Given the description of an element on the screen output the (x, y) to click on. 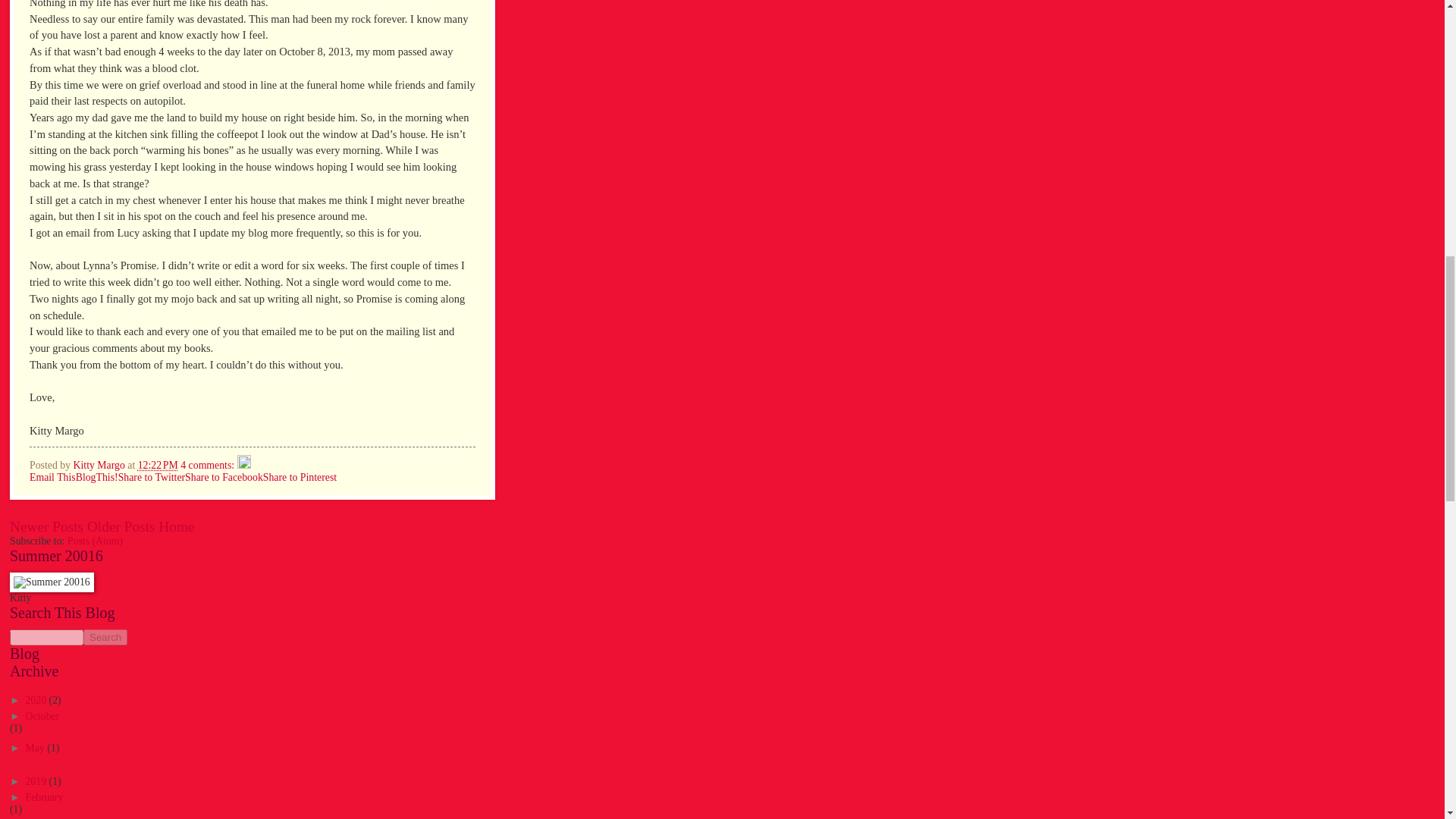
Home (175, 526)
October (42, 715)
February (45, 797)
Share to Facebook (223, 477)
Share to Pinterest (299, 477)
Newer Posts (46, 526)
Search (105, 637)
Share to Facebook (223, 477)
Newer Posts (46, 526)
Edit Post (243, 464)
4 comments: (207, 464)
Share to Twitter (150, 477)
Search (105, 637)
BlogThis! (96, 477)
BlogThis! (96, 477)
